Given the description of an element on the screen output the (x, y) to click on. 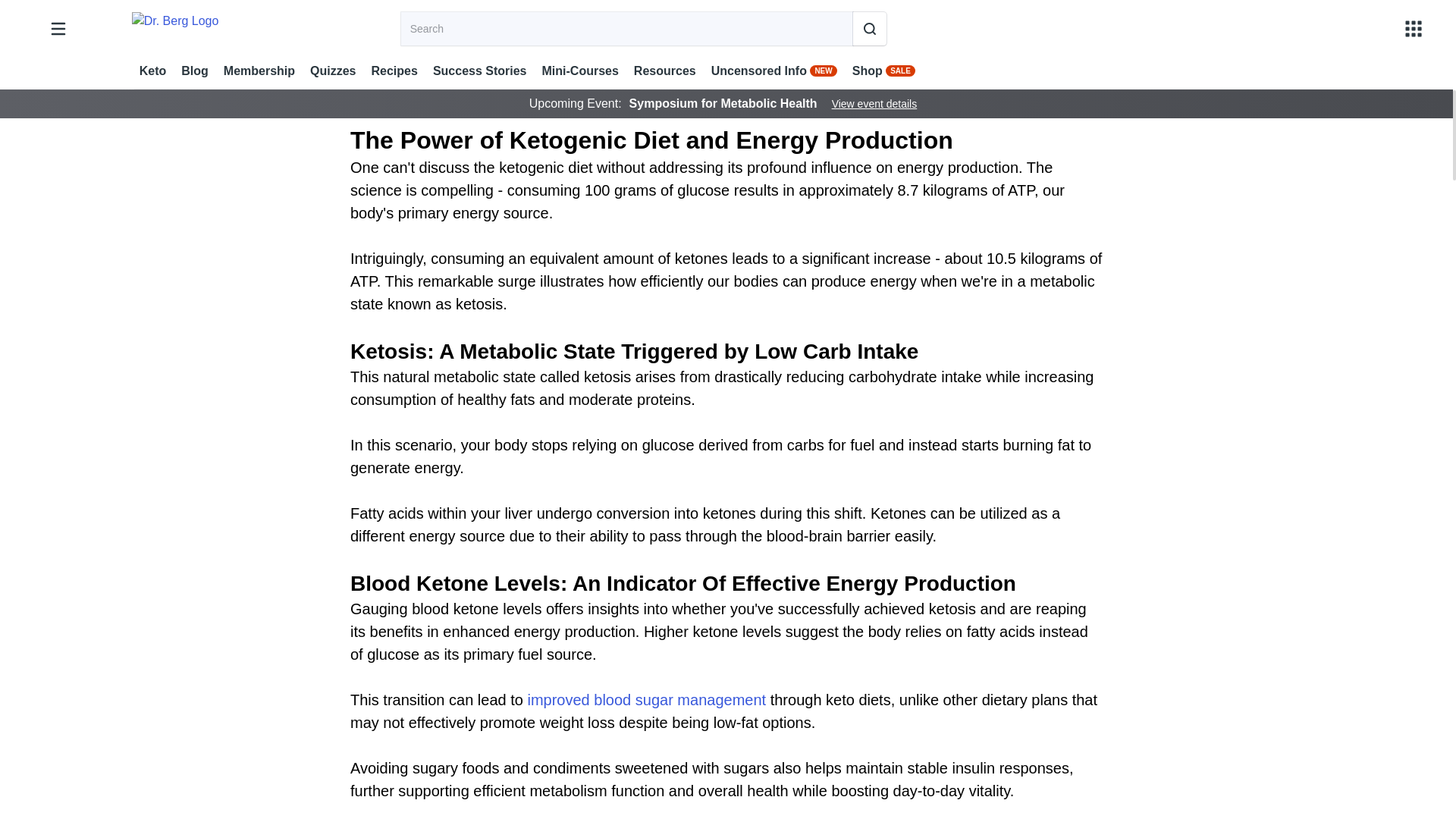
improved blood sugar management (646, 699)
